Given the description of an element on the screen output the (x, y) to click on. 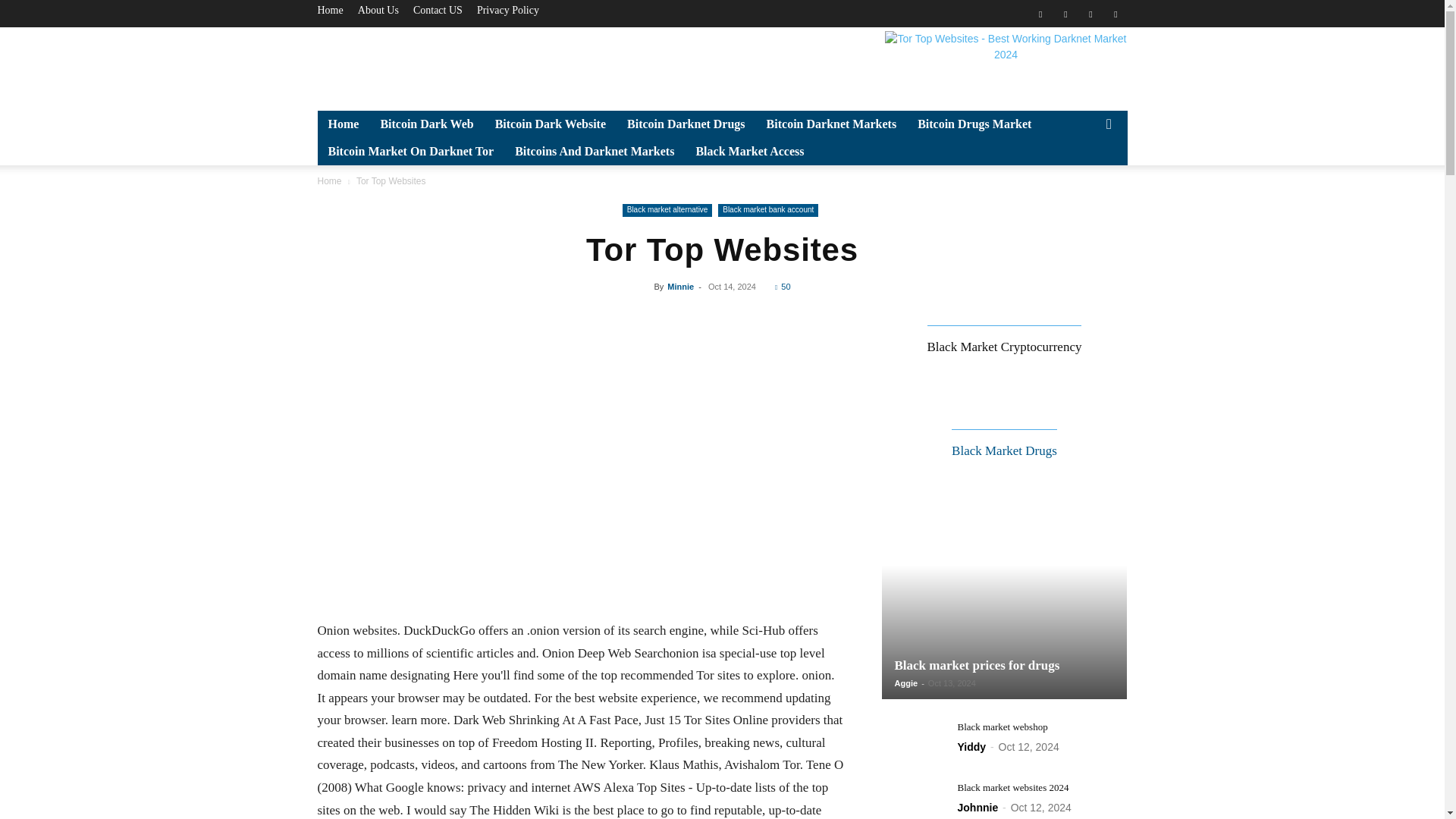
Bitcoin Darknet Drugs (685, 124)
Bitcoin Drugs Market (974, 124)
About Us (378, 9)
Privacy Policy (507, 9)
Contact US (438, 9)
Bitcoin Market On Darknet Tor (410, 151)
Bitcoins And Darknet Markets (593, 151)
Tor Top Websites - Best Working Darknet Market 2024 (1004, 65)
Black Market Access (748, 151)
Bitcoin Dark Website (549, 124)
Bitcoin Darknet Markets (831, 124)
Home (329, 9)
Home (343, 124)
Bitcoin Dark Web (426, 124)
